Given the description of an element on the screen output the (x, y) to click on. 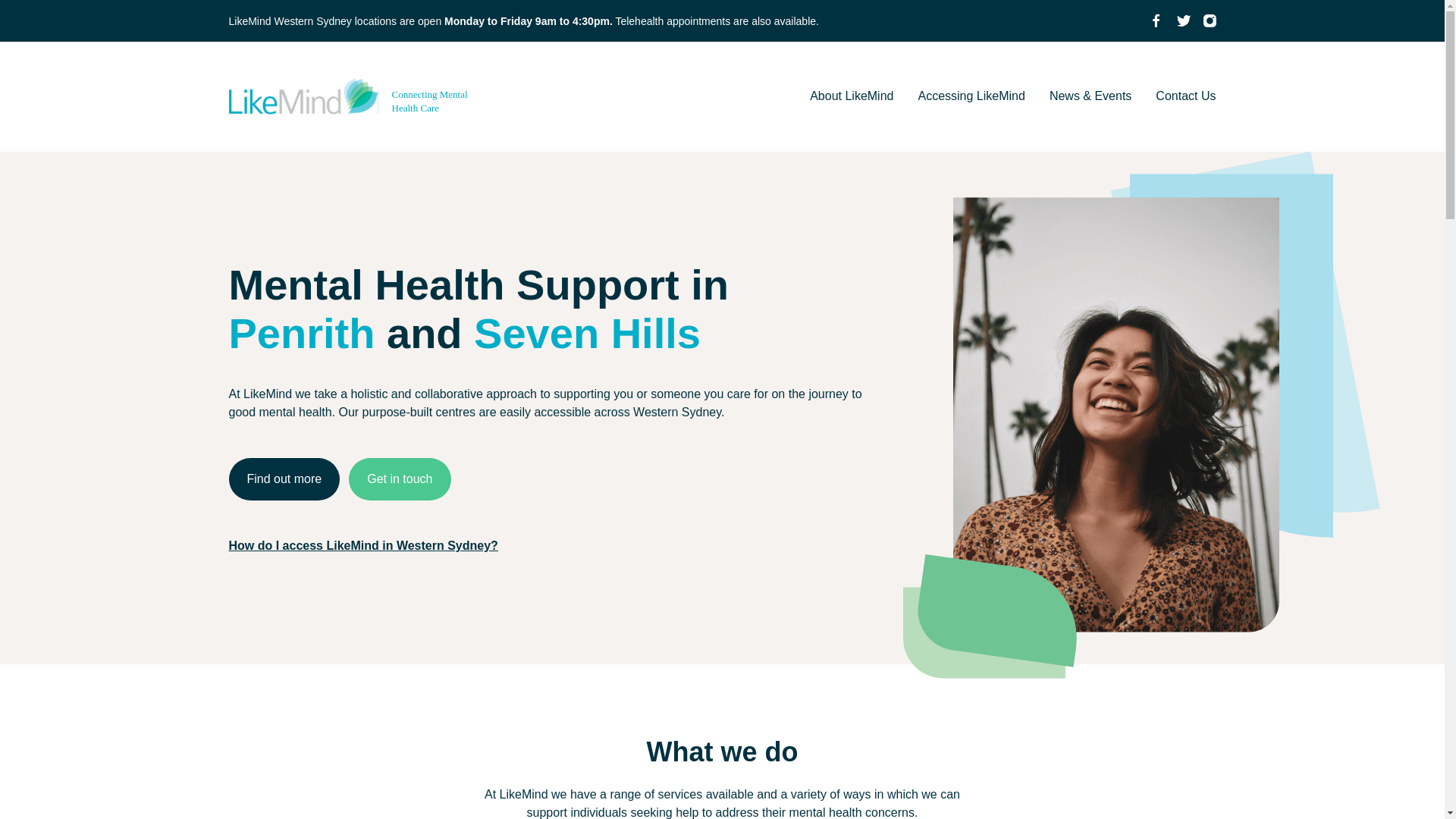
About LikeMind (851, 95)
Find out more (284, 478)
Get in touch (399, 478)
Accessing LikeMind (971, 95)
Contact Us (1185, 95)
How do I access LikeMind in Western Sydney? (362, 545)
